Given the description of an element on the screen output the (x, y) to click on. 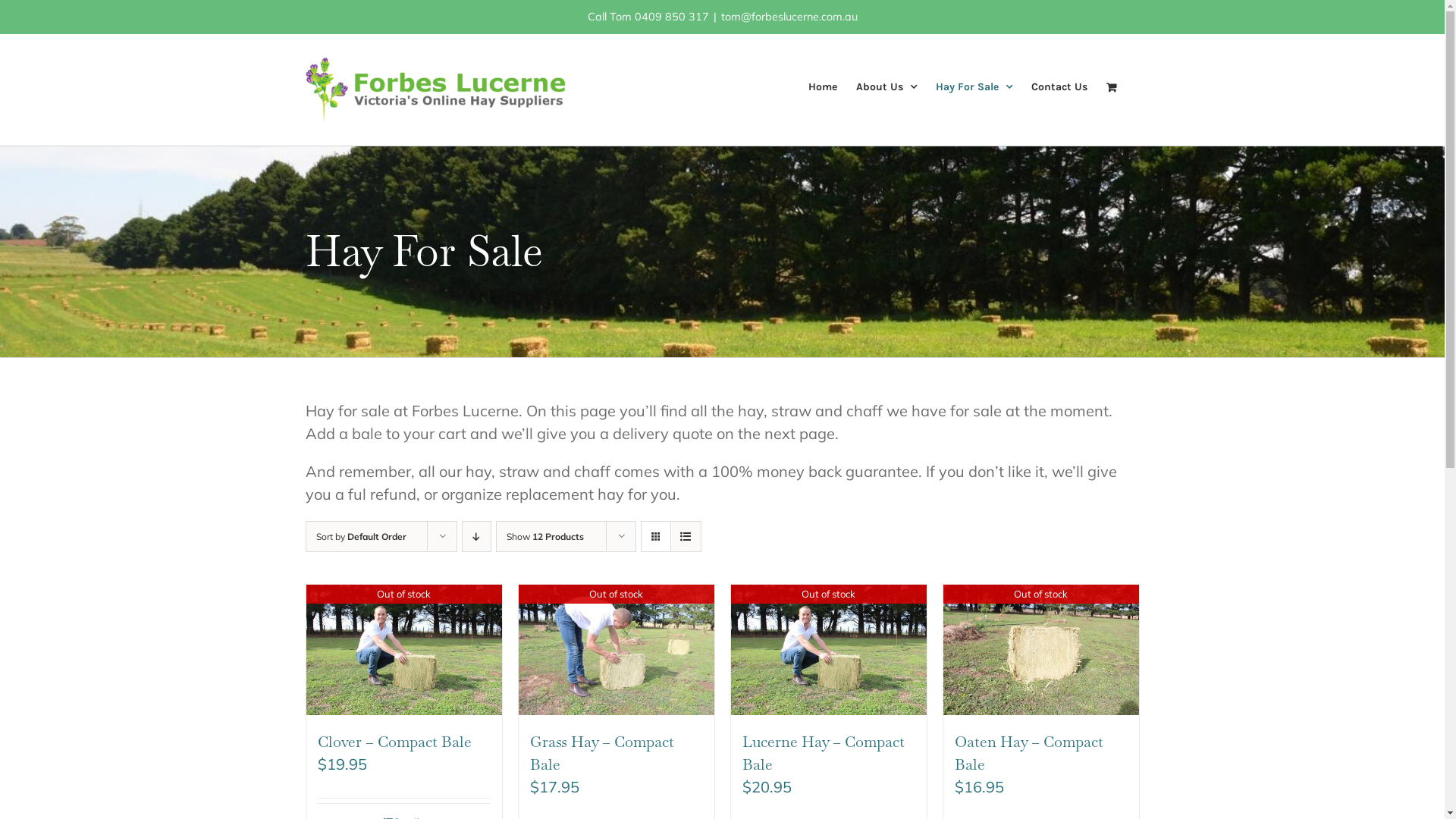
Home Element type: text (822, 86)
Out of stock Element type: text (1041, 649)
Out of stock Element type: text (616, 649)
Out of stock Element type: text (828, 649)
Out of stock Element type: text (404, 649)
Show 12 Products Element type: text (544, 536)
Sort by Default Order Element type: text (360, 536)
About Us Element type: text (885, 86)
tom@forbeslucerne.com.au Element type: text (788, 16)
Hay For Sale Element type: text (973, 86)
Contact Us Element type: text (1059, 86)
